Given the description of an element on the screen output the (x, y) to click on. 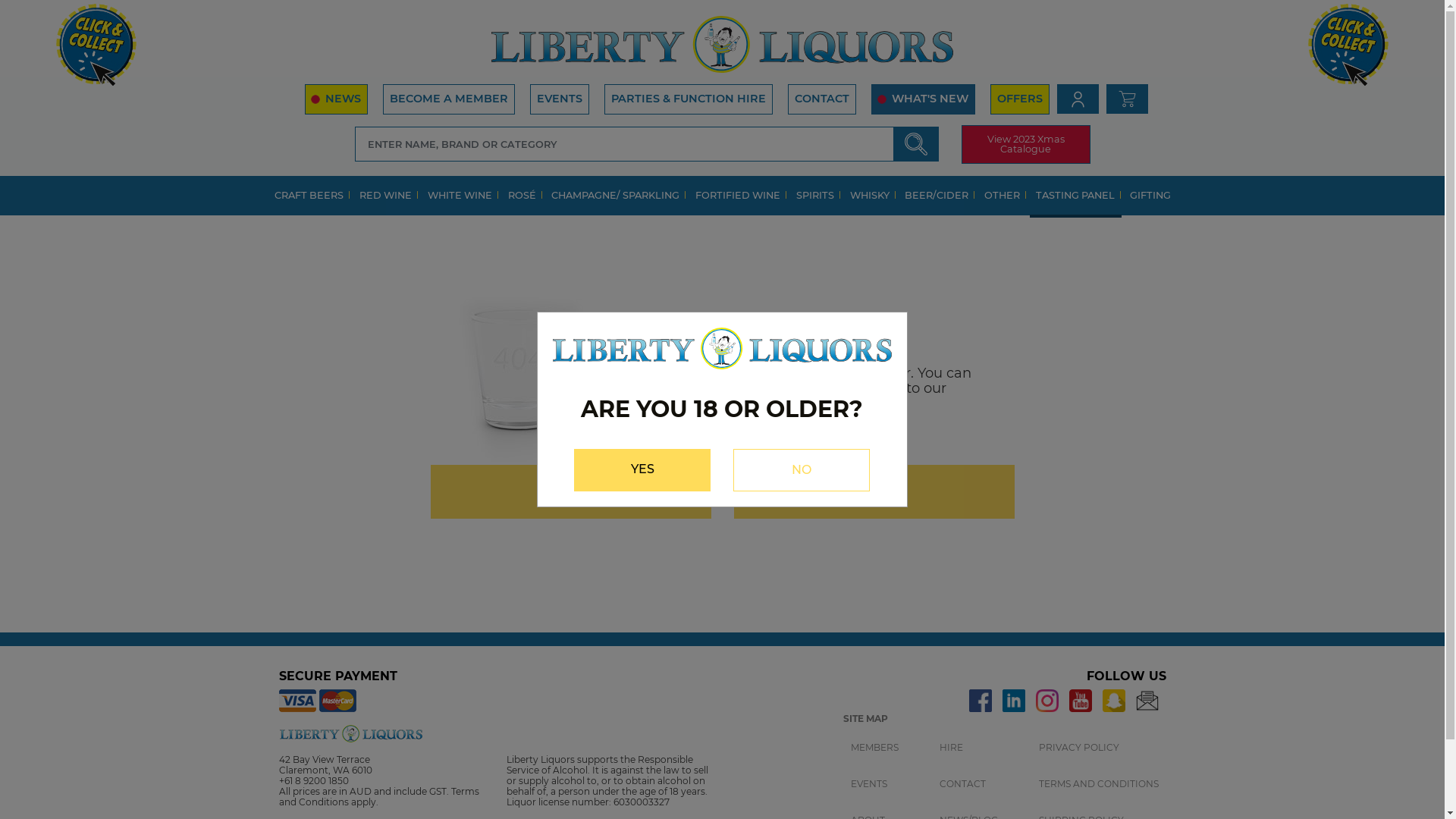
RED WINE Element type: text (385, 196)
NEWS Element type: text (335, 99)
YES Element type: text (642, 469)
OFFERS Element type: text (1019, 99)
WHISKY Element type: text (870, 196)
BEER/CIDER Element type: text (936, 196)
TASTING PANEL Element type: text (1075, 196)
View 2023 Xmas
Catalogue Element type: text (1025, 144)
HOME Element type: text (874, 491)
CHAMPAGNE/ SPARKLING Element type: text (615, 196)
WHITE WINE Element type: text (459, 196)
PARTIES & FUNCTION HIRE Element type: text (687, 99)
GIFTING Element type: text (1149, 196)
EVENTS Element type: text (868, 783)
FORTIFIED WINE Element type: text (738, 196)
BECOME A MEMBER Element type: text (448, 99)
CONTACT Element type: text (821, 99)
MEMBERS Element type: text (874, 747)
CONTACT Element type: text (961, 783)
TERMS AND CONDITIONS Element type: text (1098, 783)
EVENTS Element type: text (558, 99)
BACK Element type: text (570, 491)
OTHER Element type: text (1002, 196)
WHAT'S NEW Element type: text (922, 99)
SPIRITS Element type: text (815, 196)
NO Element type: text (801, 469)
PRIVACY POLICY Element type: text (1078, 747)
CRAFT BEERS Element type: text (309, 196)
HIRE Element type: text (950, 747)
